Given the description of an element on the screen output the (x, y) to click on. 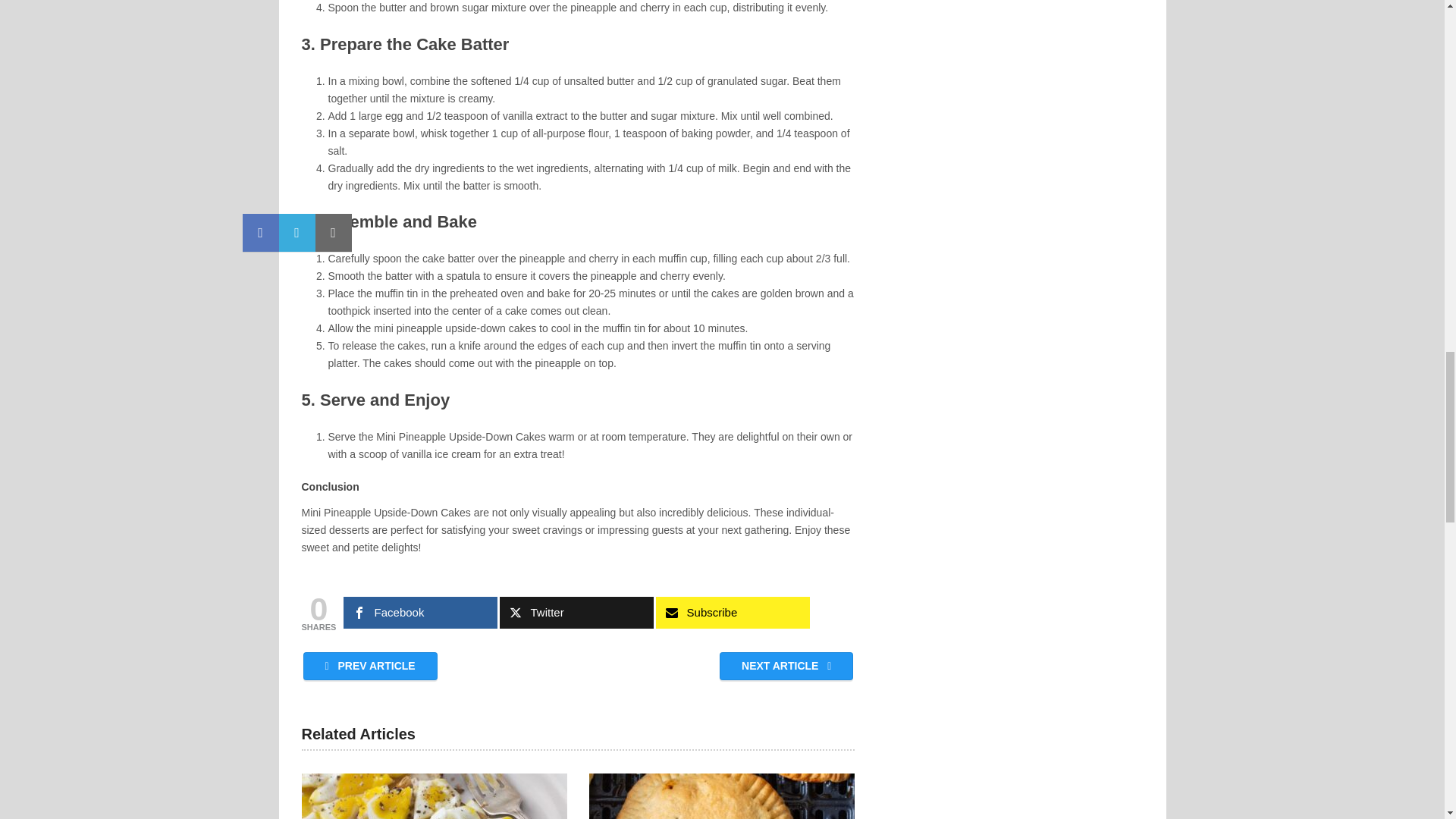
Facebook (420, 612)
Air Fryer Ham and Egg Bagel Holes (434, 796)
Subscribe (732, 612)
PREV ARTICLE (370, 665)
Air Fryer Empanadas (721, 796)
NEXT ARTICLE (786, 665)
Twitter (576, 612)
